Given the description of an element on the screen output the (x, y) to click on. 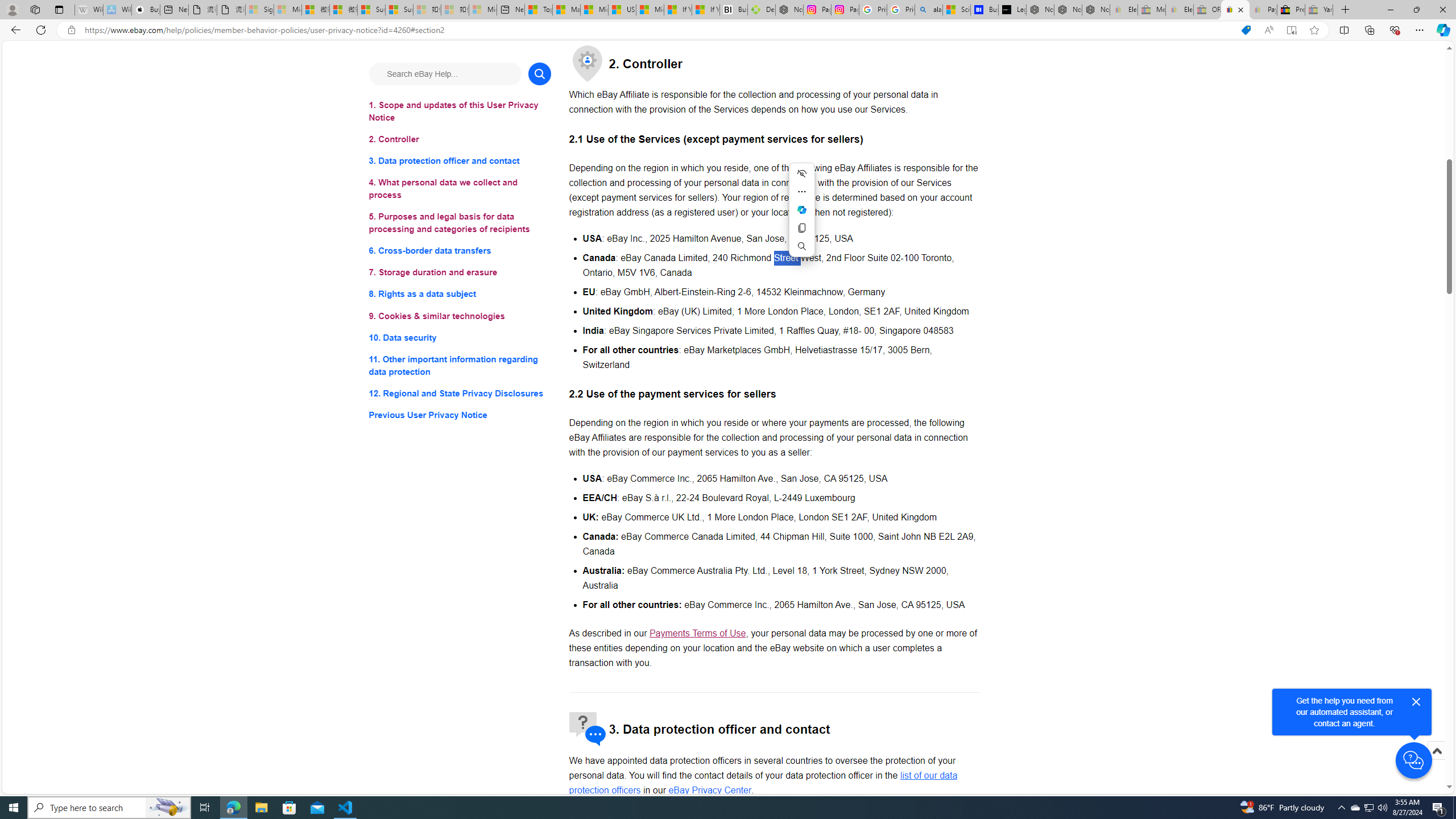
9. Cookies & similar technologies (459, 315)
2. Controller (459, 138)
